Given the description of an element on the screen output the (x, y) to click on. 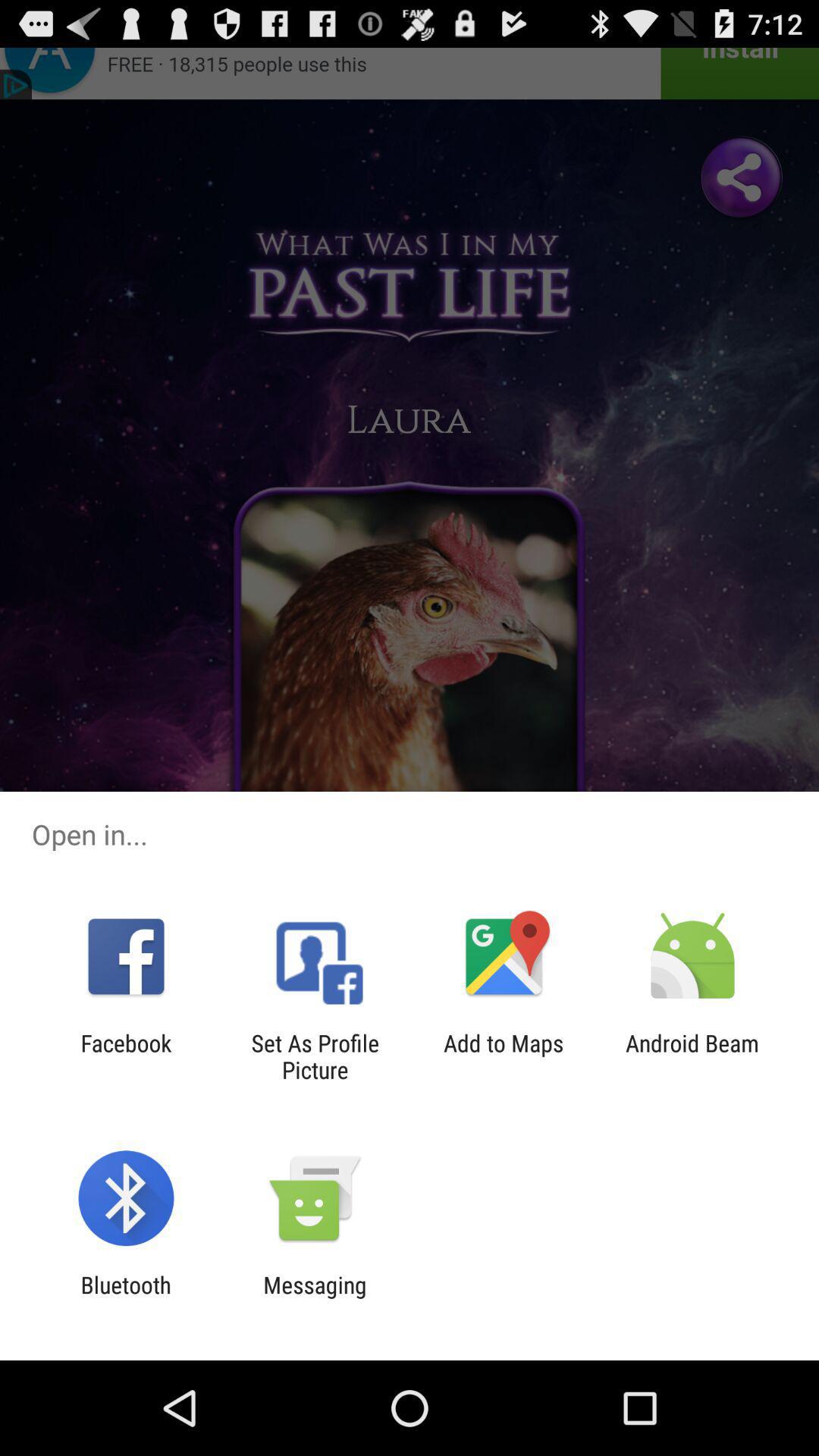
tap app at the bottom right corner (692, 1056)
